Given the description of an element on the screen output the (x, y) to click on. 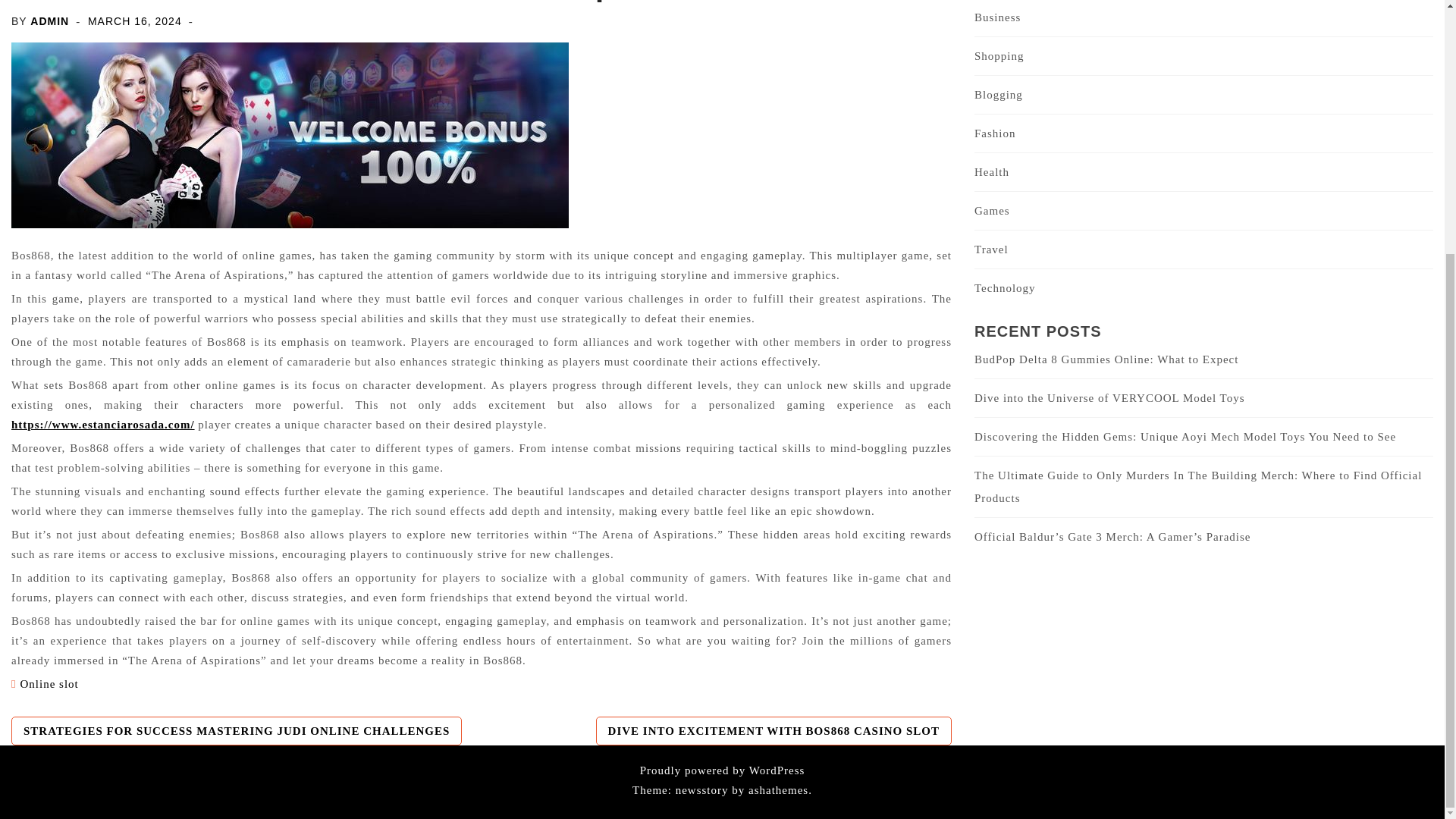
Games (992, 210)
Travel (991, 249)
DIVE INTO EXCITEMENT WITH BOS868 CASINO SLOT (773, 729)
Online slot (49, 684)
MARCH 16, 2024 (134, 21)
ADMIN (49, 21)
Business (997, 17)
Health (991, 172)
STRATEGIES FOR SUCCESS MASTERING JUDI ONLINE CHALLENGES (236, 729)
Fashion (995, 133)
Blogging (998, 94)
Shopping (999, 55)
